Given the description of an element on the screen output the (x, y) to click on. 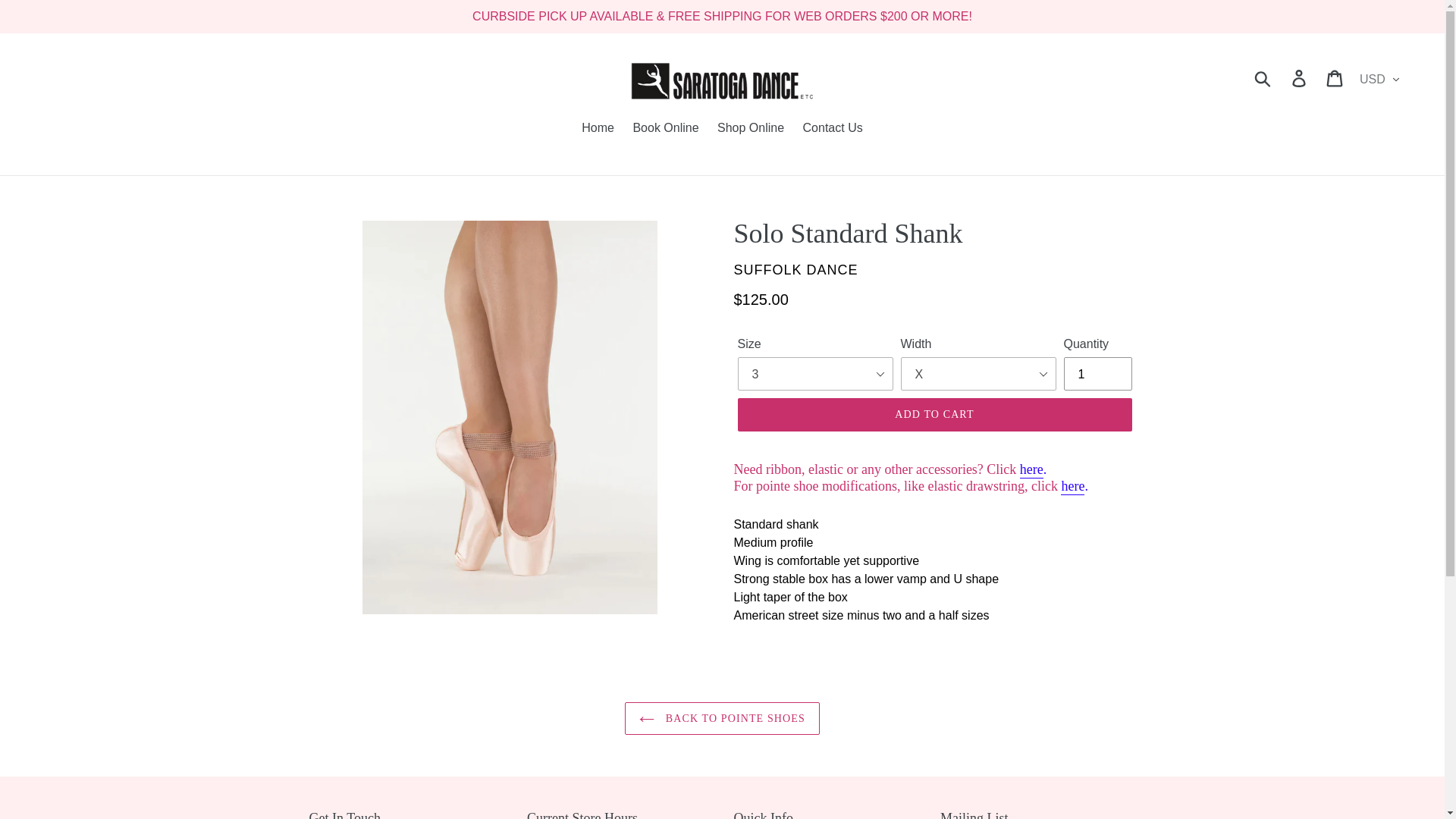
here (1031, 469)
Submit (1263, 78)
ADD TO CART (933, 414)
BACK TO POINTE SHOES (721, 717)
1 (1096, 373)
Home (597, 128)
Cart (1335, 78)
here (1072, 486)
Log in (1299, 78)
Shop Online (751, 128)
Book Online (665, 128)
Contact Us (832, 128)
